Given the description of an element on the screen output the (x, y) to click on. 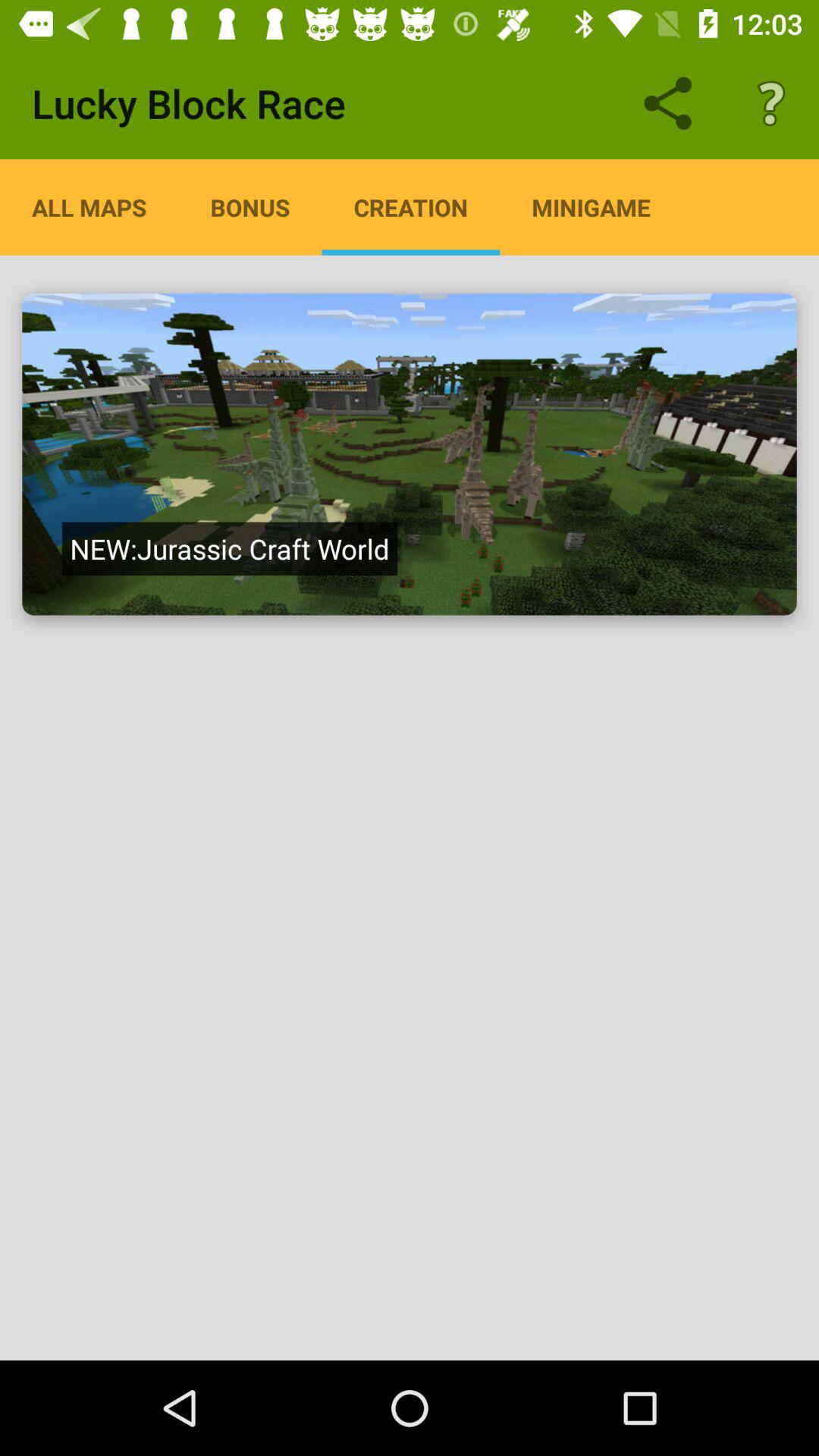
choose minigame (590, 207)
